Given the description of an element on the screen output the (x, y) to click on. 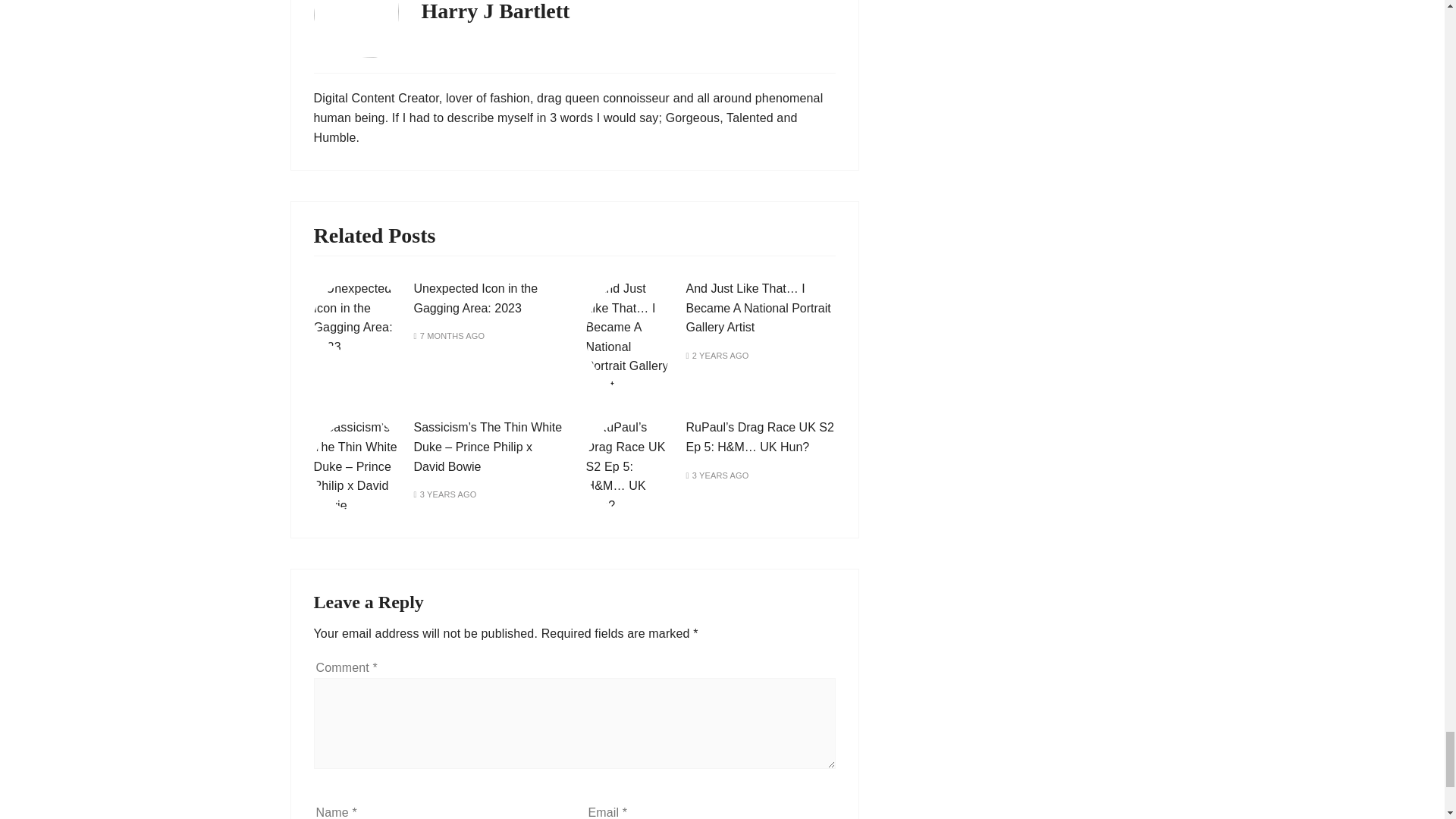
Unexpected Icon in the Gagging Area: 2023 (475, 297)
